Given the description of an element on the screen output the (x, y) to click on. 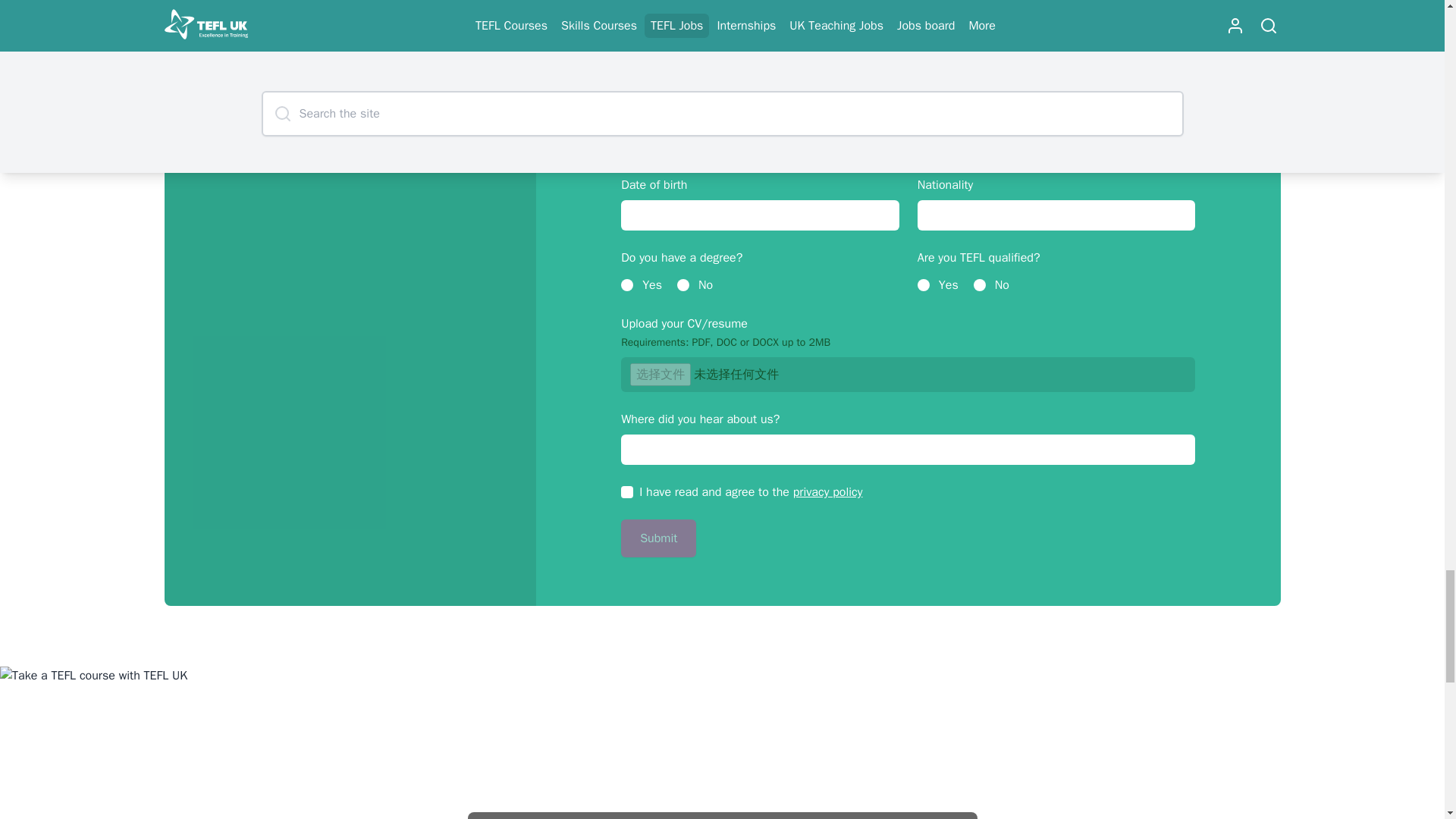
Yes (923, 285)
No (682, 285)
Submit (658, 538)
Yes (627, 285)
No (979, 285)
